Given the description of an element on the screen output the (x, y) to click on. 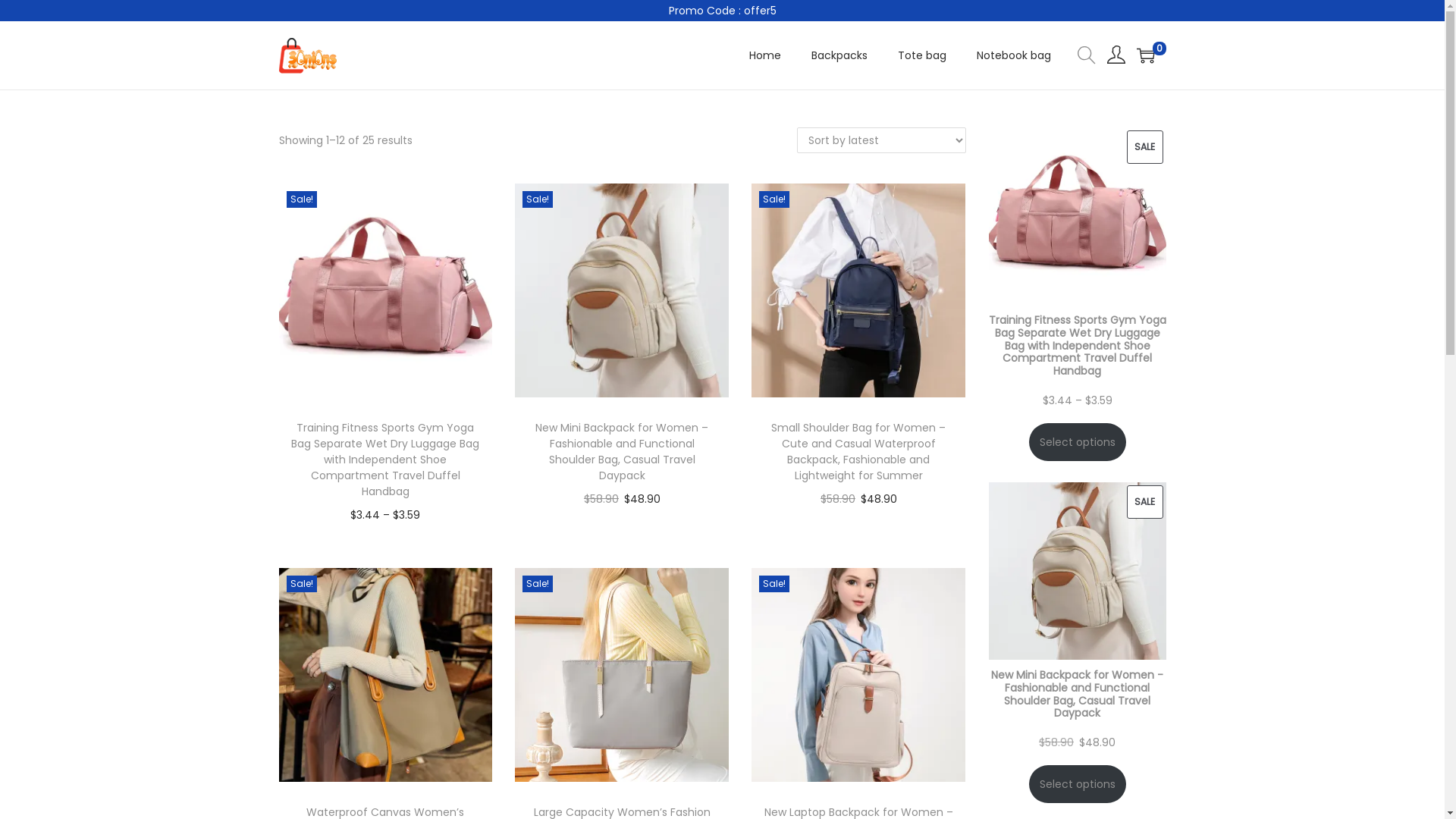
Tote bag Element type: text (921, 55)
Search Element type: text (950, 428)
Skip to navigation Element type: text (277, 54)
0 Element type: text (1144, 55)
Select options Element type: text (1076, 784)
Select options Element type: text (1076, 442)
Backpacks Element type: text (839, 55)
Notebook bag Element type: text (1013, 55)
Home Element type: text (765, 55)
